Given the description of an element on the screen output the (x, y) to click on. 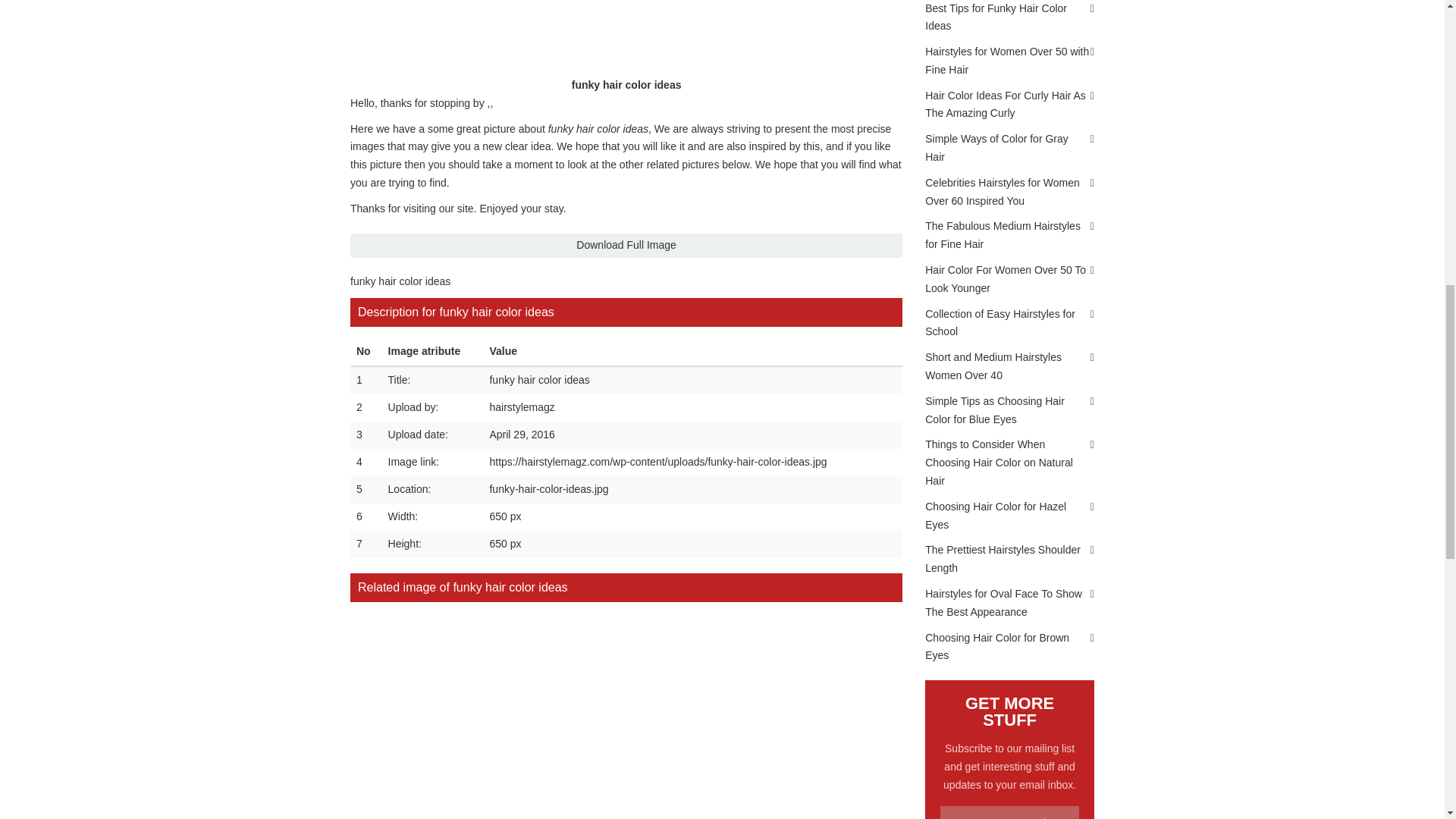
Image for funky hair color ideas (696, 663)
Image for funky hair color ideas for short hair (556, 663)
Image for funky hair color ideas for brunettes (416, 663)
